Given the description of an element on the screen output the (x, y) to click on. 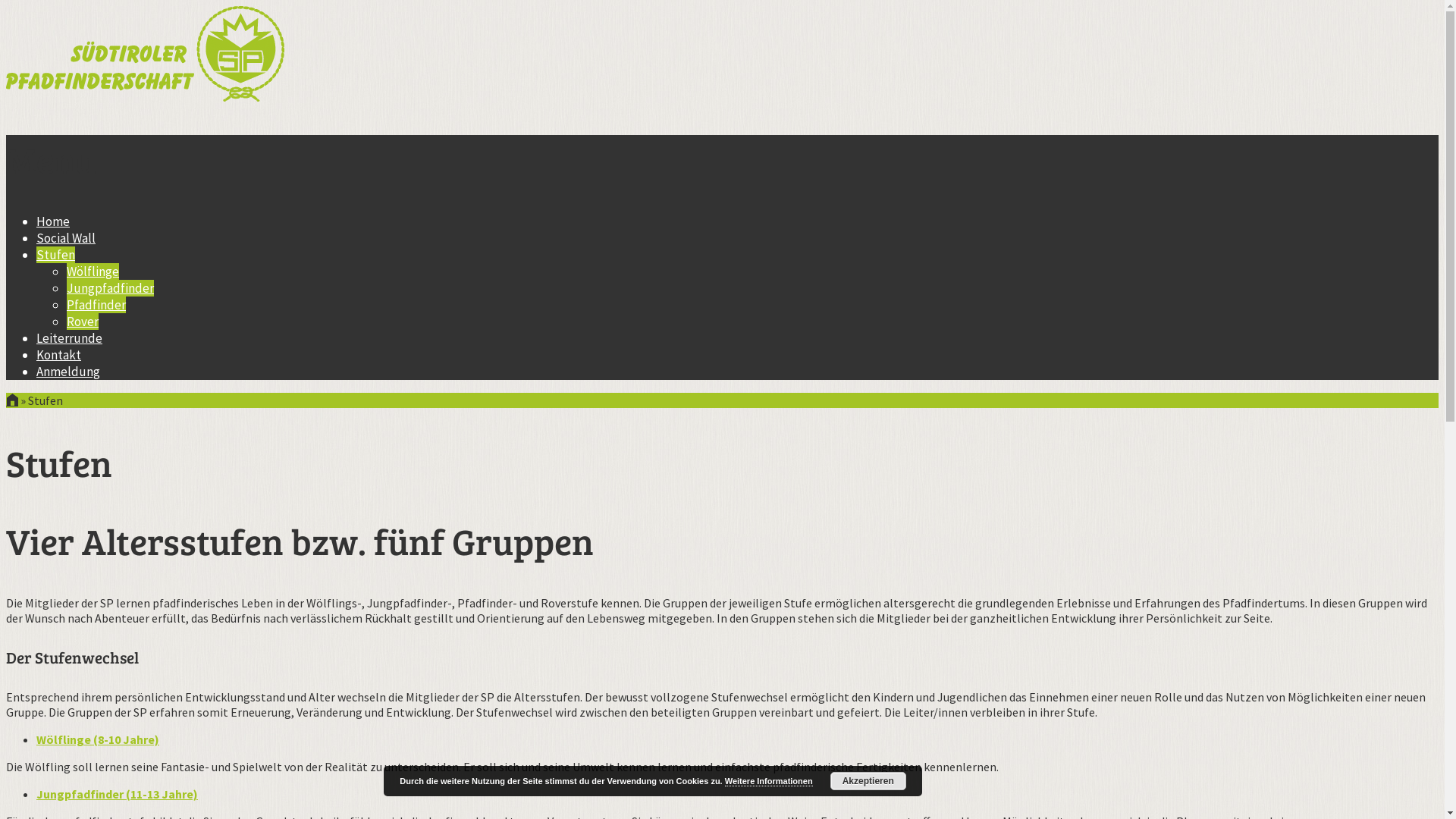
Pfadfinder Element type: text (95, 304)
Skip to content Element type: text (5, 212)
Kontakt Element type: text (58, 354)
Jungpfadfinder (11-13 Jahre) Element type: text (116, 793)
Jungpfadfinder Element type: text (109, 287)
Leiterrunde Element type: text (69, 337)
Home Element type: text (52, 221)
Anmeldung Element type: text (68, 371)
Social Wall Element type: text (65, 237)
Weitere Informationen Element type: text (768, 781)
Rover Element type: text (82, 321)
Akzeptieren Element type: text (868, 780)
Stufen Element type: text (55, 254)
